Given the description of an element on the screen output the (x, y) to click on. 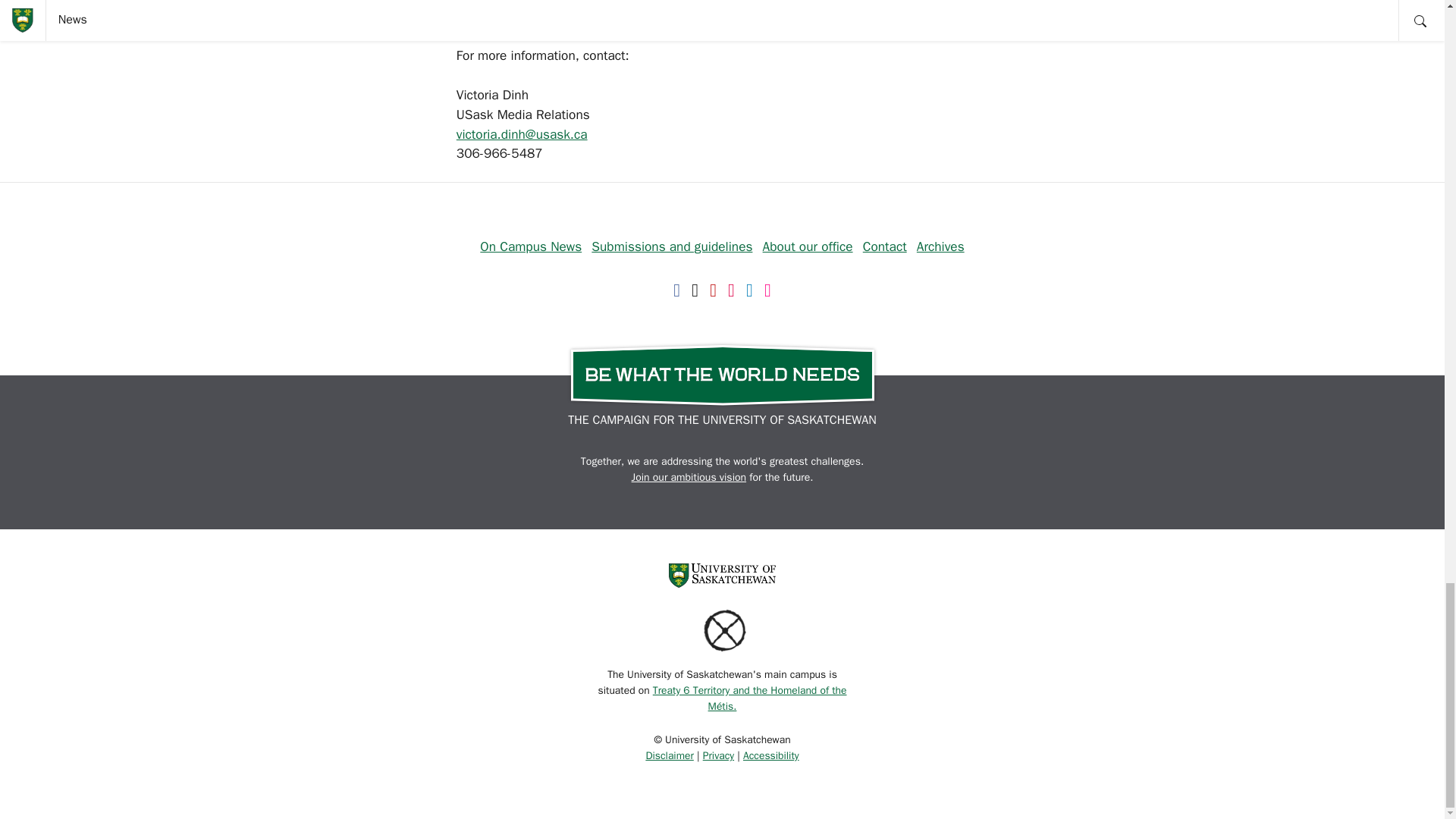
Disclaimer (669, 755)
Privacy (718, 755)
Contact (885, 246)
About our office (807, 246)
Accessibility (770, 755)
On Campus News (530, 246)
Archives (940, 246)
Submissions and guidelines (671, 246)
Join our ambitious vision (688, 477)
